Given the description of an element on the screen output the (x, y) to click on. 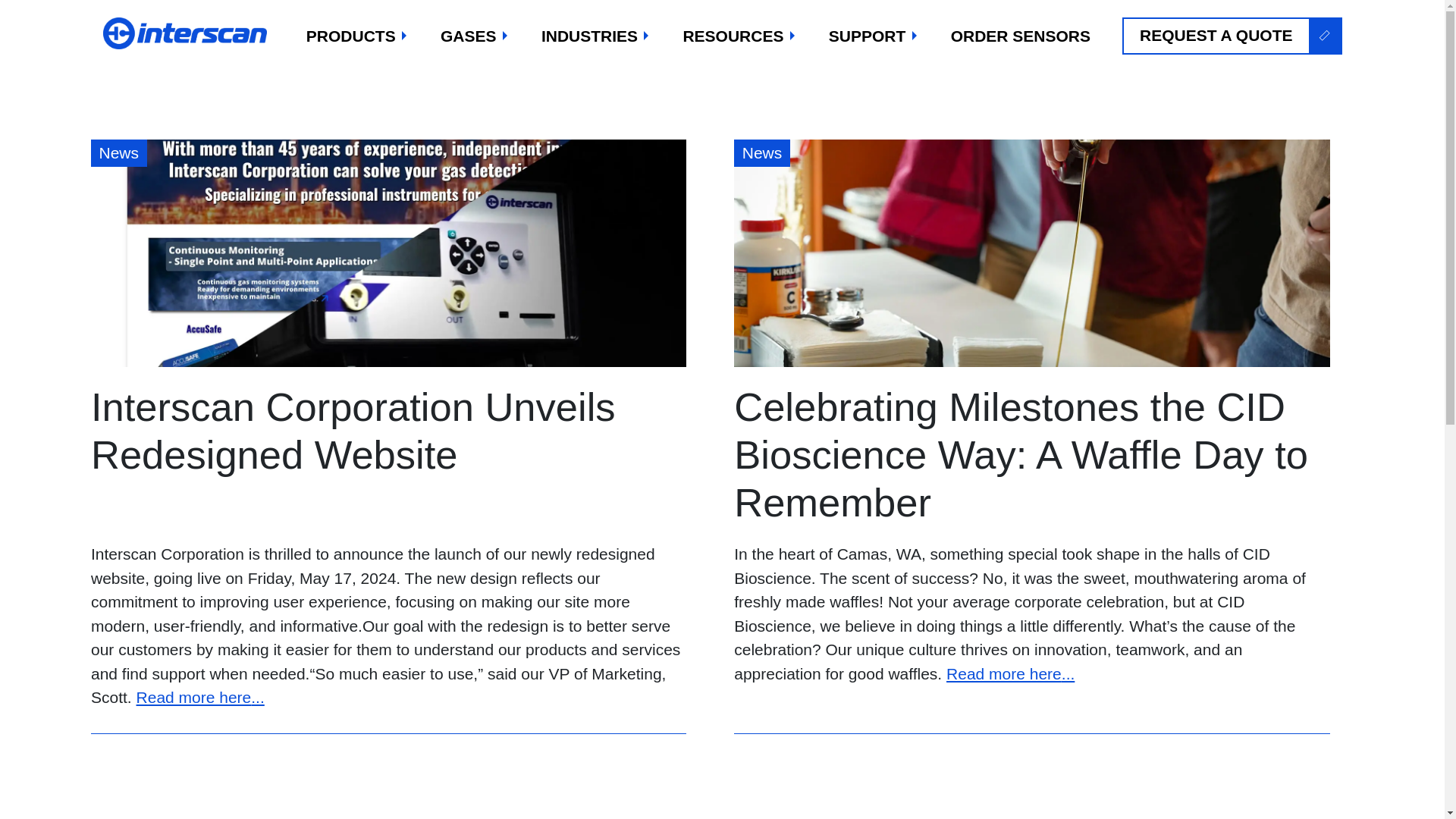
GASES (475, 35)
Gases (475, 35)
PRODUCTS (357, 35)
Interscan Corporation (186, 33)
INDUSTRIES (595, 35)
Products (357, 35)
